Given the description of an element on the screen output the (x, y) to click on. 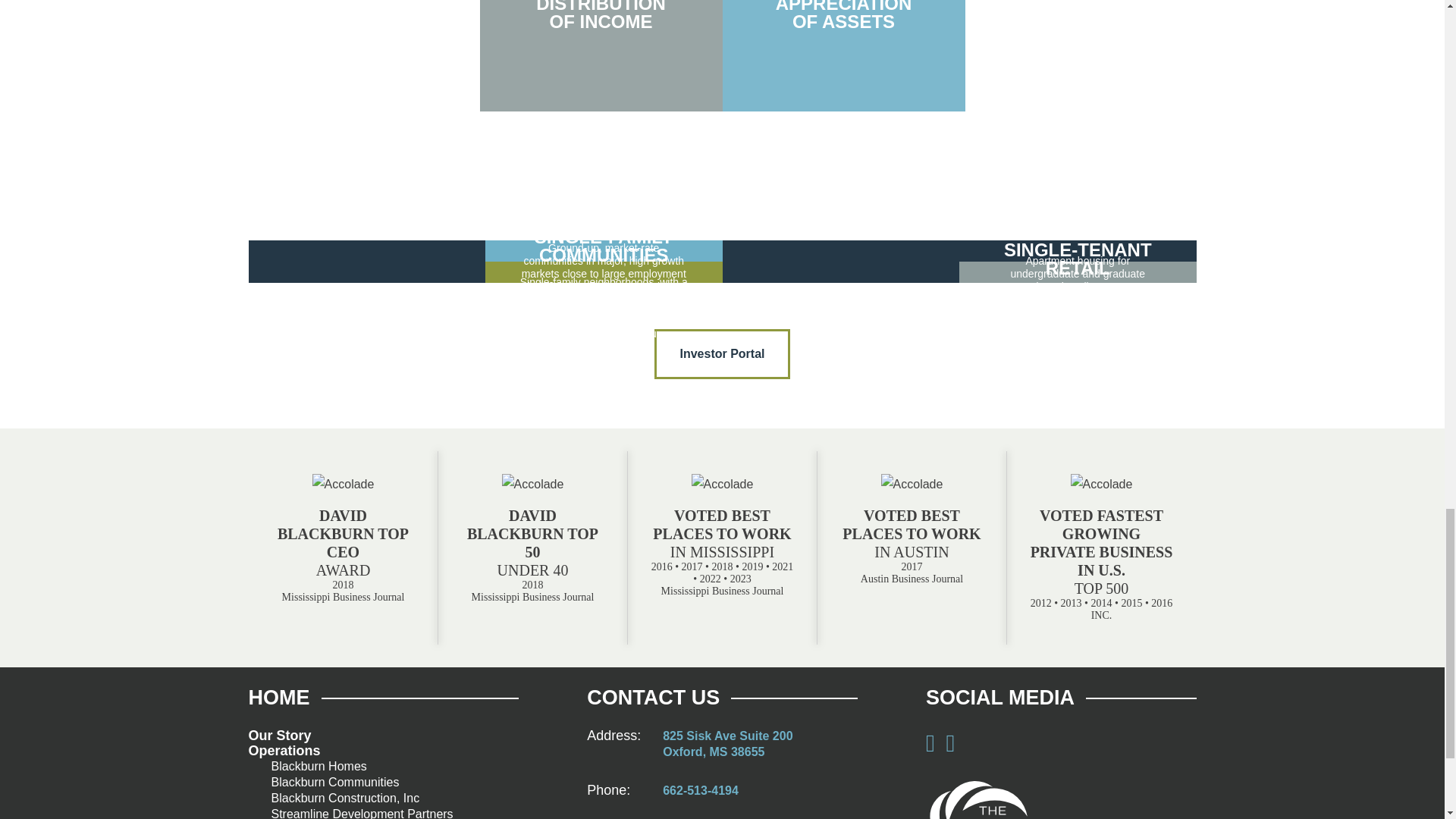
Blackburn Construction, Inc (345, 797)
Blackburn Homes (318, 766)
Blackburn Communities (727, 743)
Operations (334, 781)
Our Story (600, 55)
662-513-4194 (284, 750)
Investor Portal (279, 735)
Streamline Development Partners (700, 789)
